Given the description of an element on the screen output the (x, y) to click on. 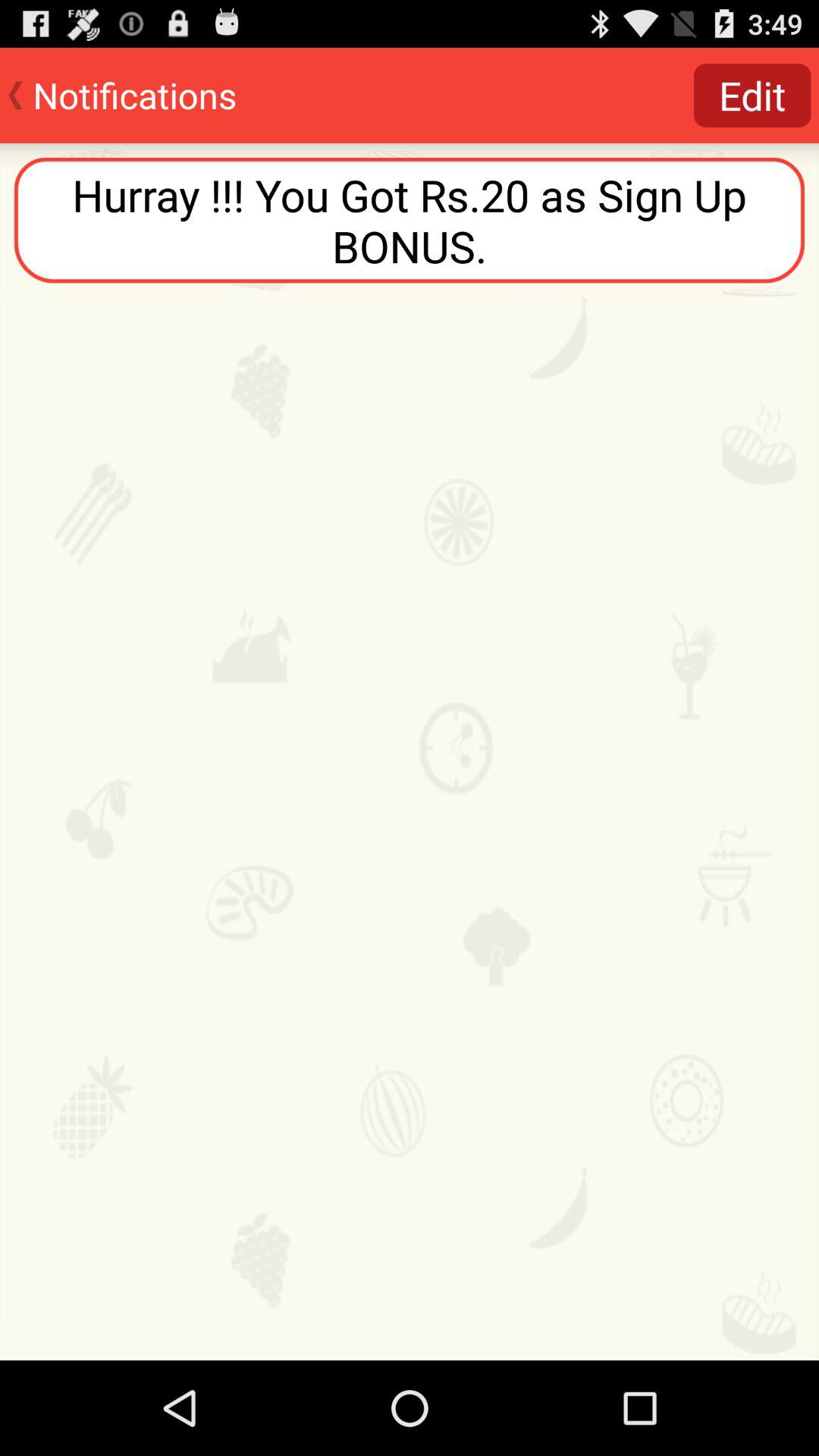
turn on the icon next to notifications icon (752, 95)
